Given the description of an element on the screen output the (x, y) to click on. 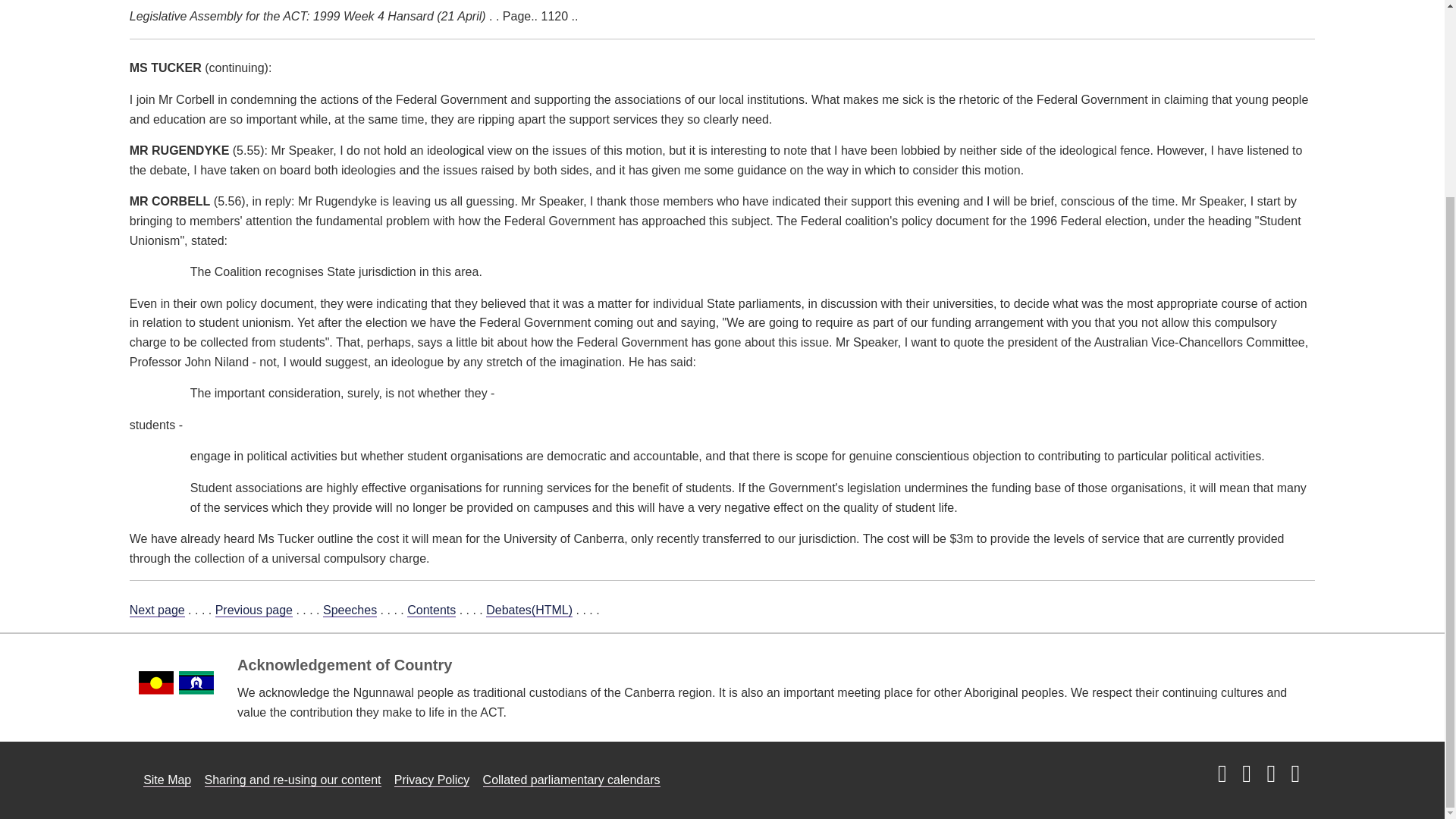
Link to Sharing and re-using our content (293, 780)
Collated parliamentary calendars (572, 780)
Speeches (350, 610)
Previous page (253, 610)
Link to Site Map (166, 780)
Link to Privacy Policy (432, 780)
Next page (156, 610)
Sharing and re-using our content (293, 780)
Privacy Policy (432, 780)
Site Map (166, 780)
